Given the description of an element on the screen output the (x, y) to click on. 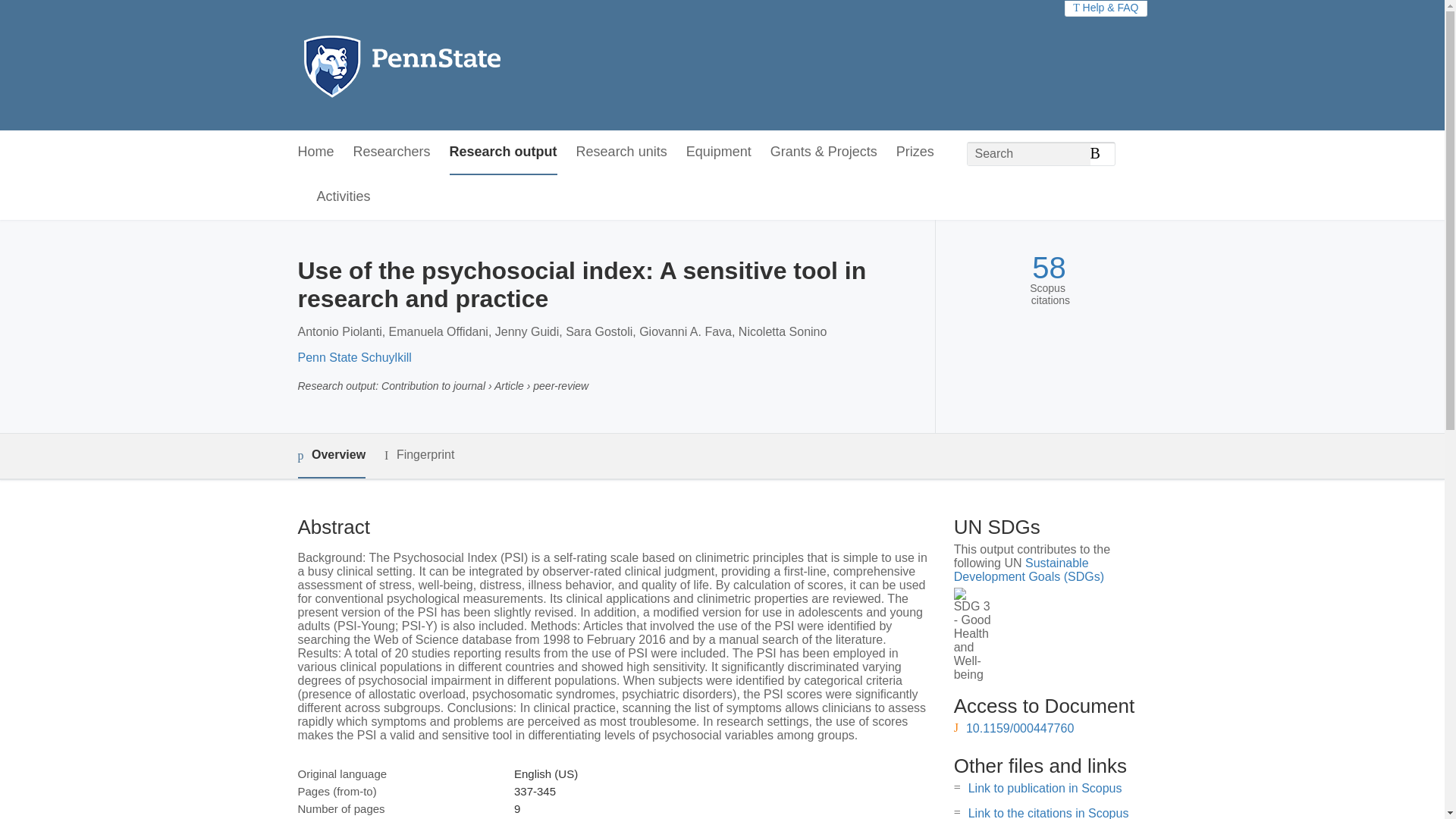
Activities (344, 197)
Fingerprint (419, 455)
Researchers (391, 152)
Link to the citations in Scopus (1048, 812)
Link to publication in Scopus (1045, 788)
Penn State Schuylkill (353, 357)
Penn State Home (467, 65)
Equipment (718, 152)
Research units (621, 152)
58 (1048, 267)
Prizes (915, 152)
SDG 3 - Good Health and Well-being (972, 634)
Overview (331, 456)
Home (315, 152)
